Given the description of an element on the screen output the (x, y) to click on. 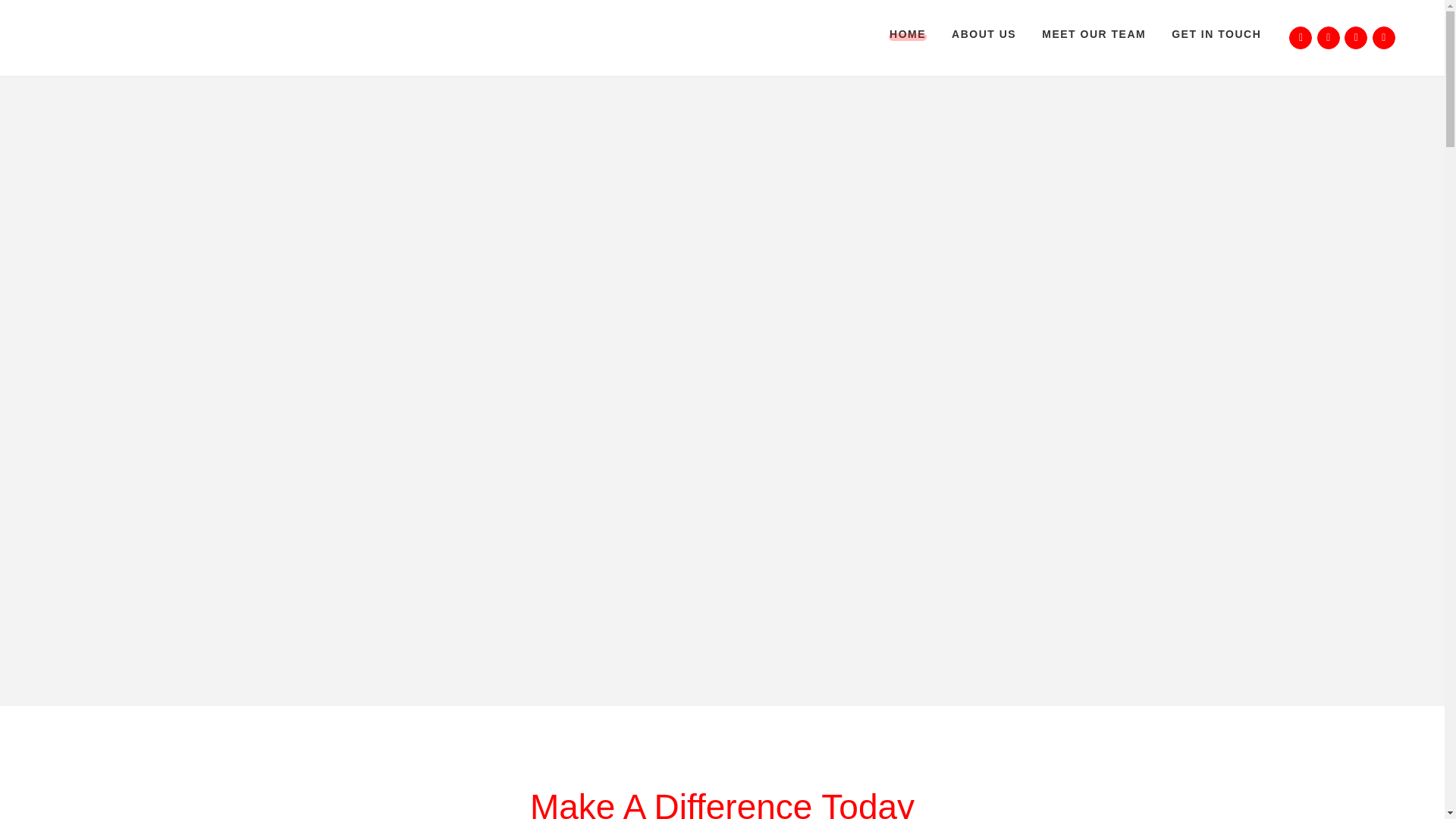
GET IN TOUCH (1216, 33)
ABOUT US (984, 33)
MEET OUR TEAM (1093, 33)
HOME (907, 33)
